Given the description of an element on the screen output the (x, y) to click on. 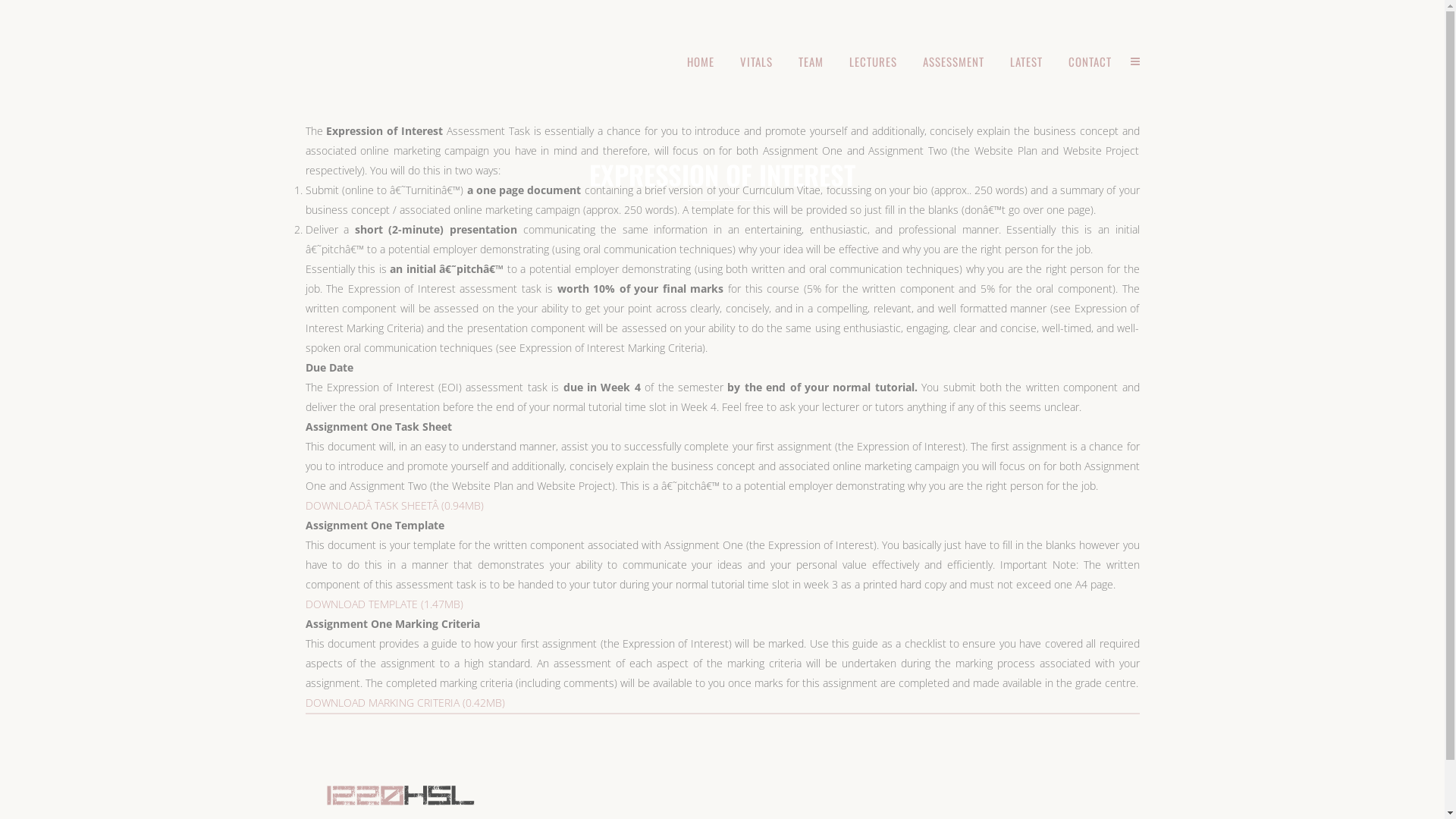
LECTURES Element type: text (872, 61)
TEAM Element type: text (810, 61)
HOME Element type: text (699, 61)
VITALS Element type: text (755, 61)
ASSESSMENT Element type: text (953, 61)
DOWNLOAD MARKING CRITERIA (0.42MB) Element type: text (404, 702)
DOWNLOAD TEMPLATE (1.47MB) Element type: text (383, 603)
CONTACT Element type: text (1089, 61)
LATEST Element type: text (1025, 61)
